Given the description of an element on the screen output the (x, y) to click on. 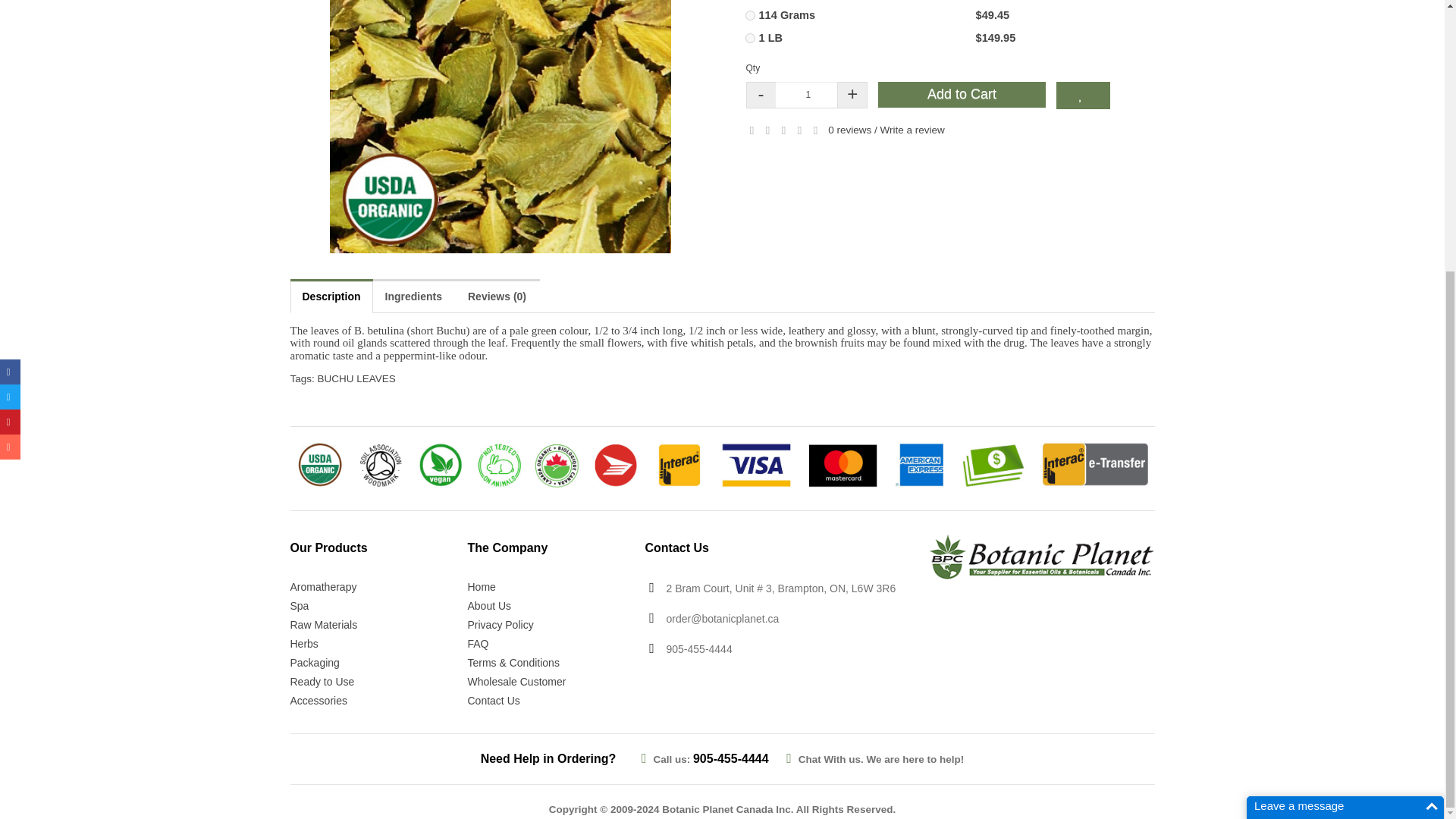
1 (808, 94)
21965 (749, 38)
7794 (749, 15)
Botanic planet (1041, 556)
